Given the description of an element on the screen output the (x, y) to click on. 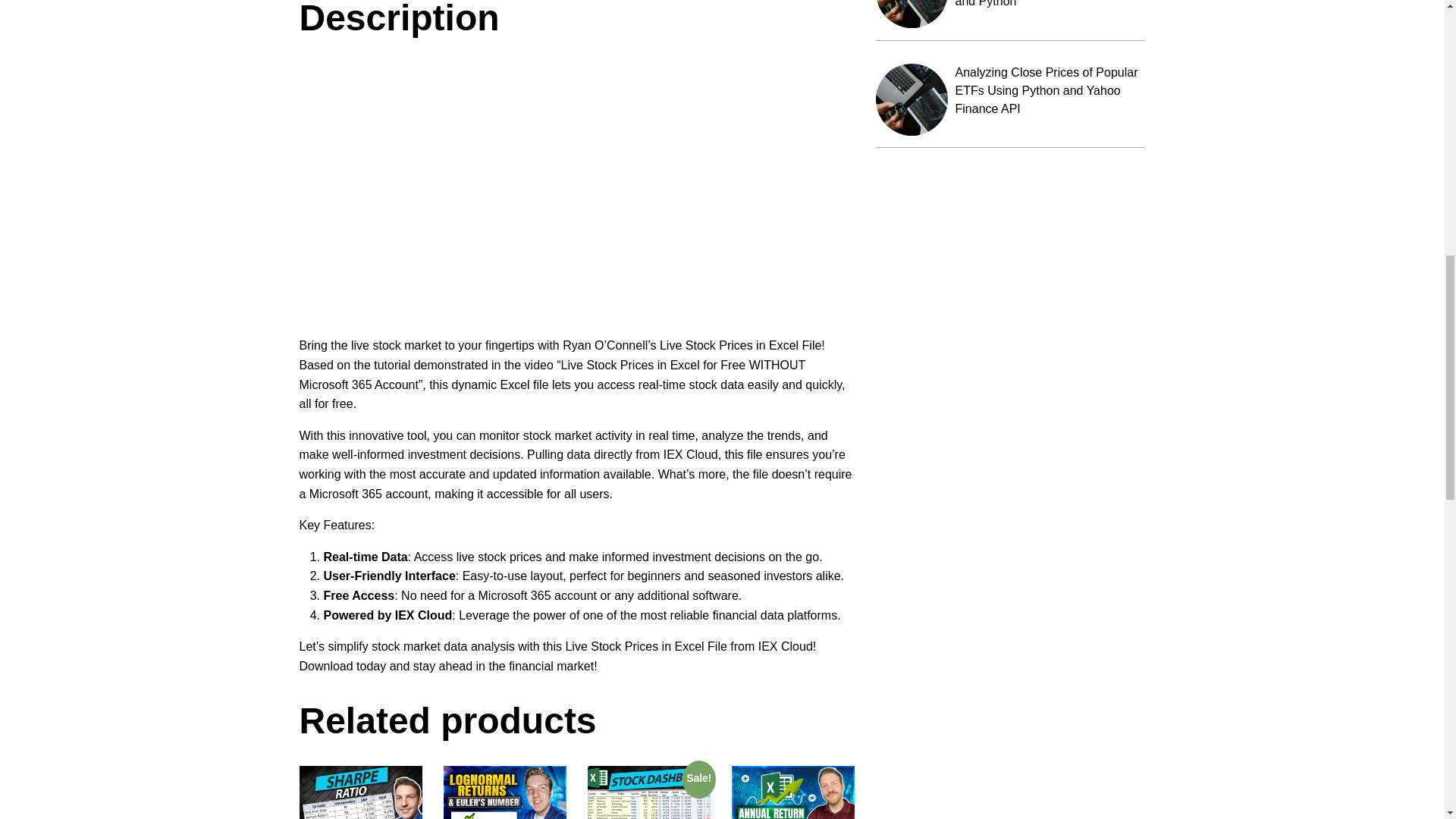
Sharpe Ratio In Excel (360, 792)
